Given the description of an element on the screen output the (x, y) to click on. 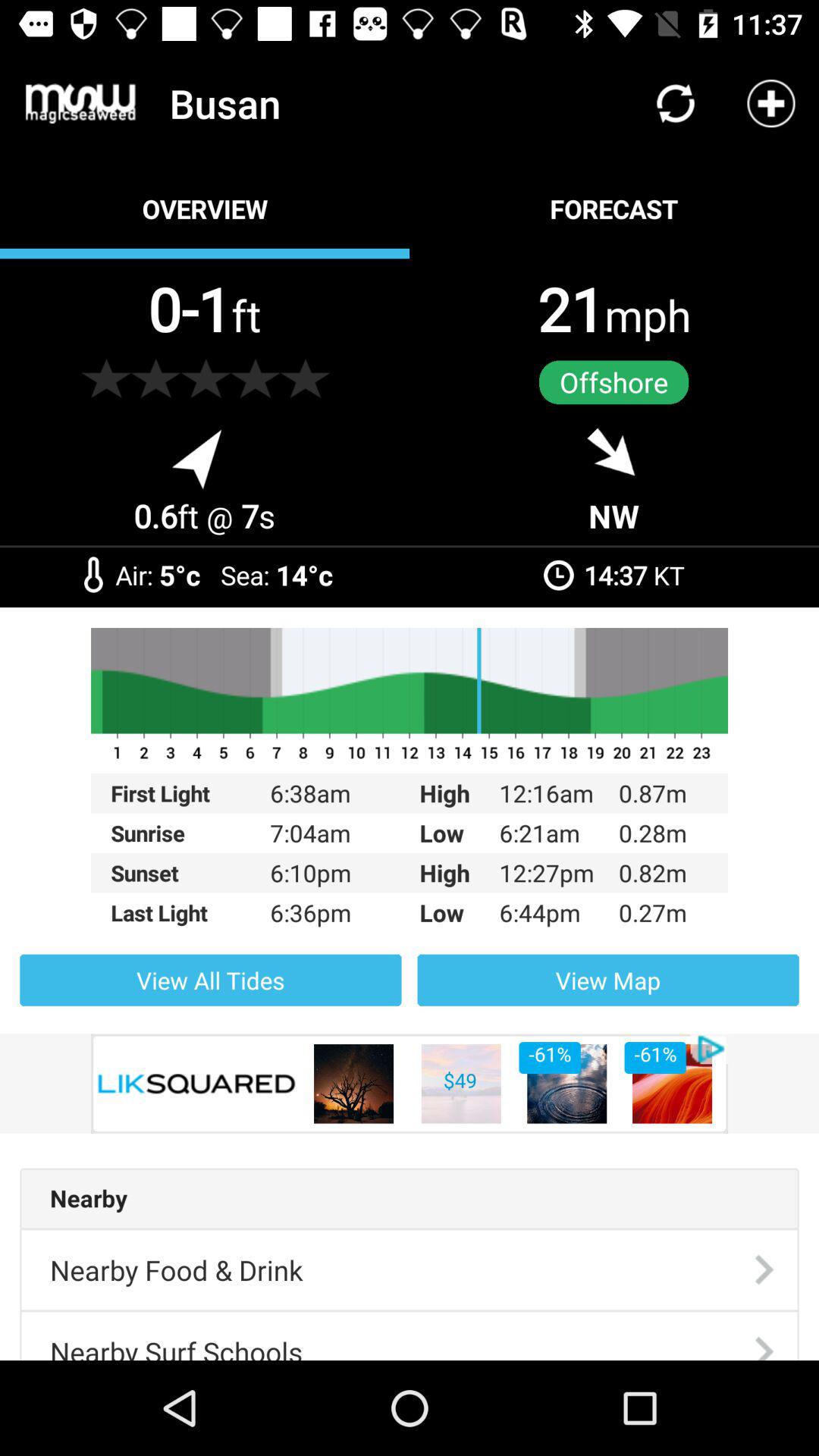
tap the icon next to first light item (324, 833)
